Given the description of an element on the screen output the (x, y) to click on. 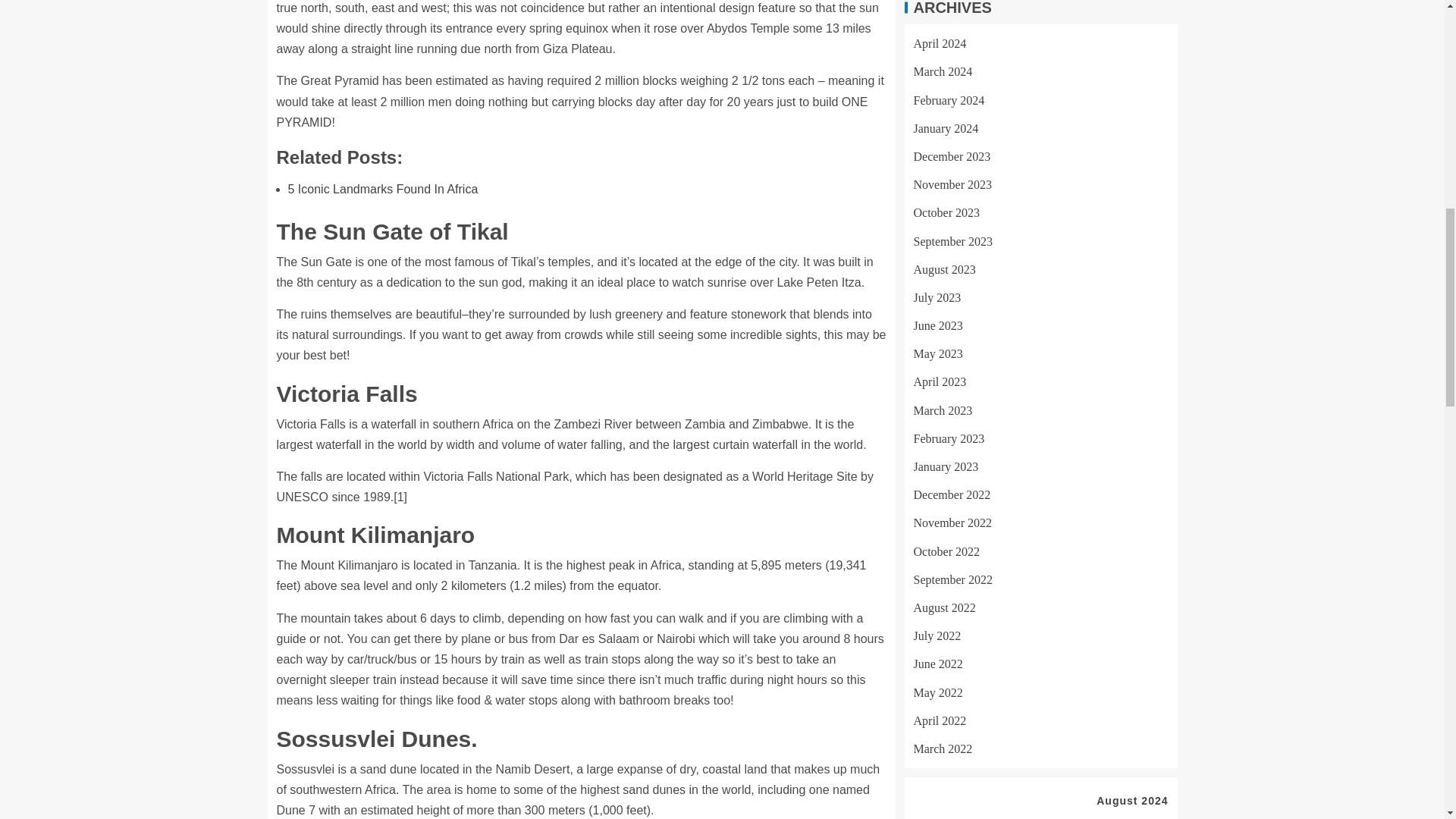
5 Iconic Landmarks Found In Africa (383, 188)
